Given the description of an element on the screen output the (x, y) to click on. 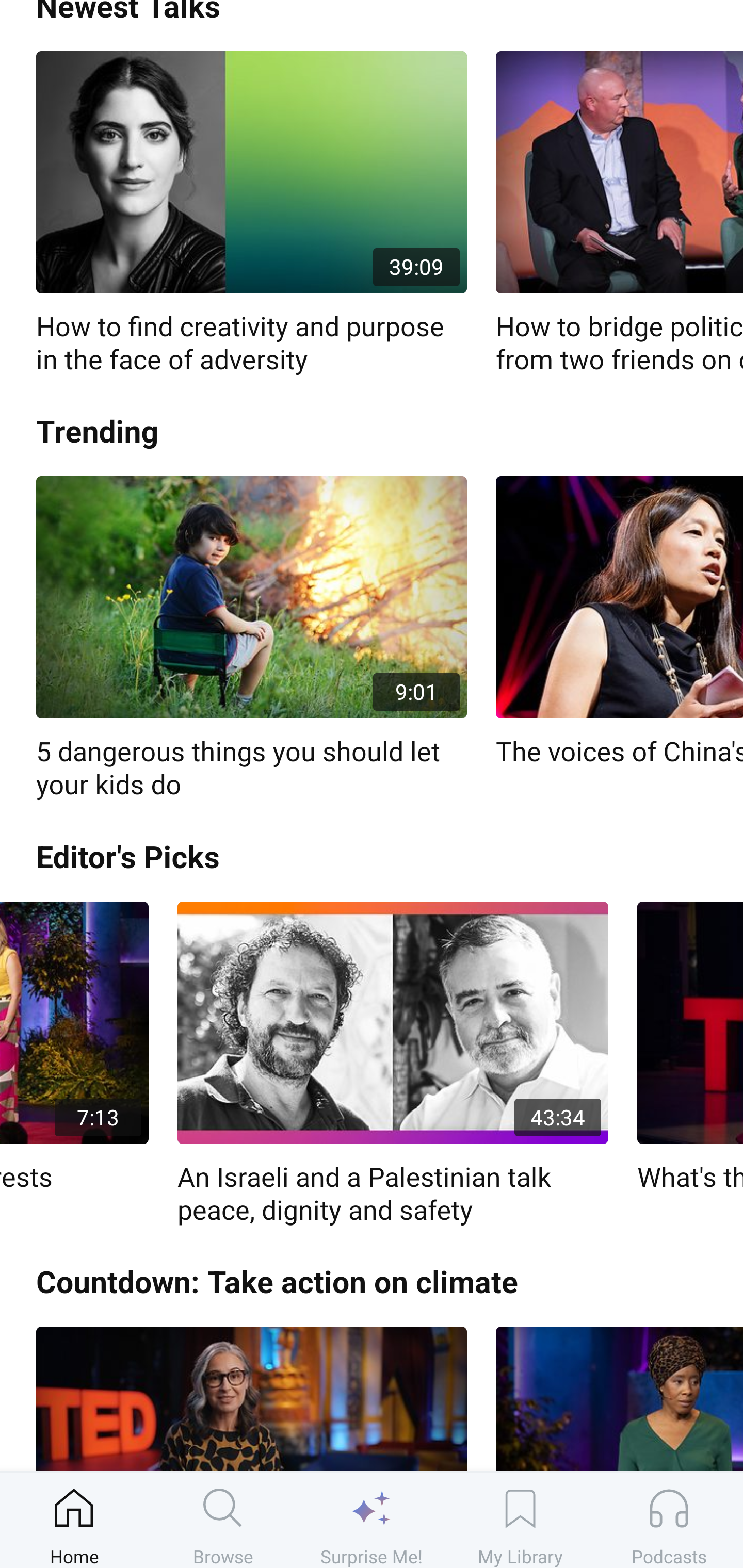
The voices of China's workers (619, 622)
Home (74, 1520)
Browse (222, 1520)
Surprise Me! (371, 1520)
My Library (519, 1520)
Podcasts (668, 1520)
